Given the description of an element on the screen output the (x, y) to click on. 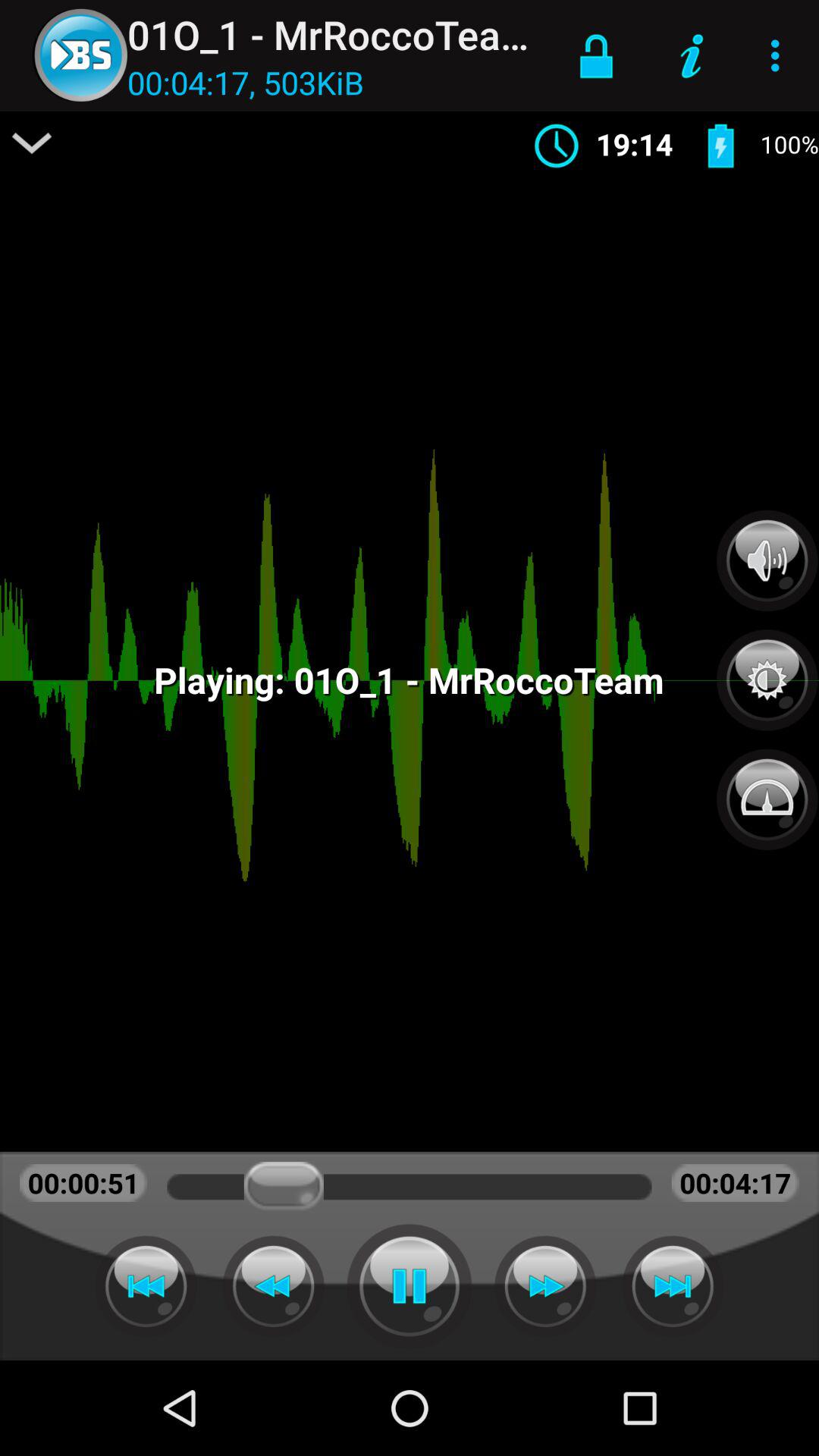
open the menu (31, 143)
